Given the description of an element on the screen output the (x, y) to click on. 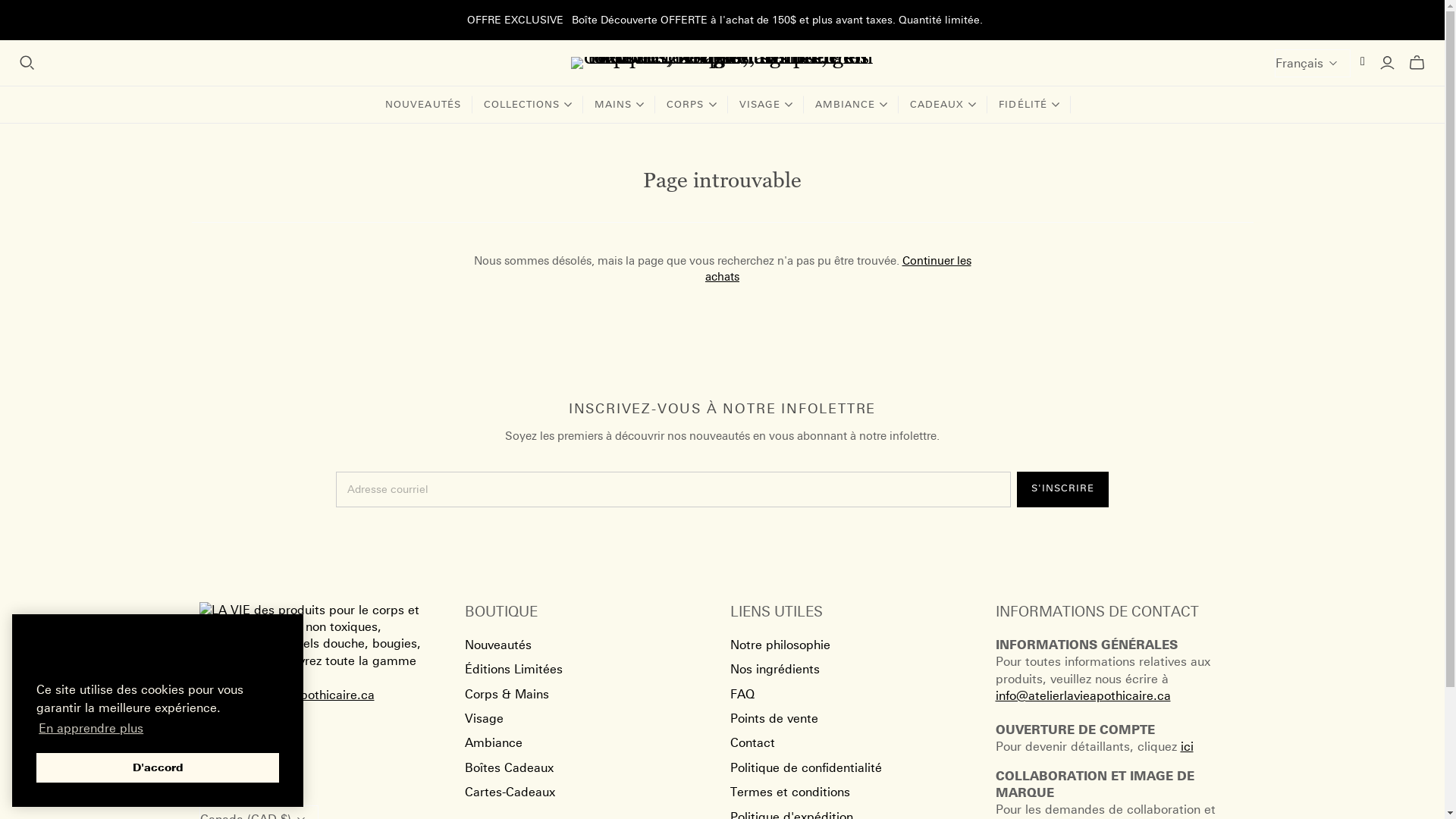
Notre philosophie Element type: text (779, 644)
Corps & Mains Element type: text (506, 694)
Contact Element type: text (751, 742)
info@atelierlavieapothicaire.ca Element type: text (285, 694)
Continuer les achats Element type: text (838, 268)
Ambiance Element type: text (492, 742)
D'accord Element type: text (157, 767)
FAQ Element type: text (741, 694)
En apprendre plus Element type: text (90, 728)
S'INSCRIRE Element type: text (1062, 489)
ici Element type: text (1185, 746)
Points de vente Element type: text (773, 718)
Termes et conditions Element type: text (789, 791)
Visage Element type: text (483, 718)
info@atelierlavieapothicaire.ca Element type: text (1082, 703)
Cartes-Cadeaux Element type: text (509, 791)
